Given the description of an element on the screen output the (x, y) to click on. 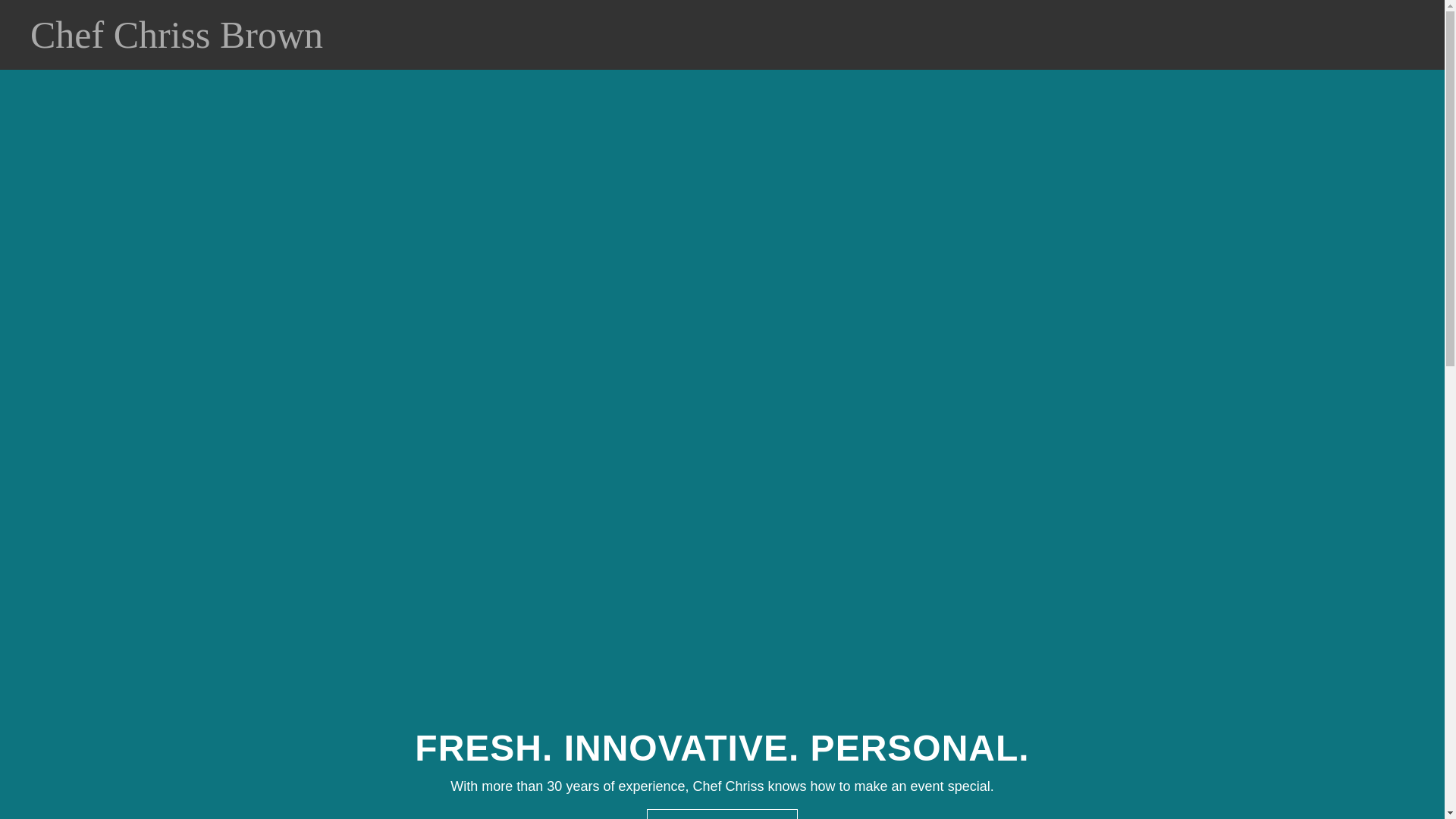
Chef Chriss Brown (226, 43)
Chef Chriss Brown (226, 43)
GET QUOTE (721, 814)
